Given the description of an element on the screen output the (x, y) to click on. 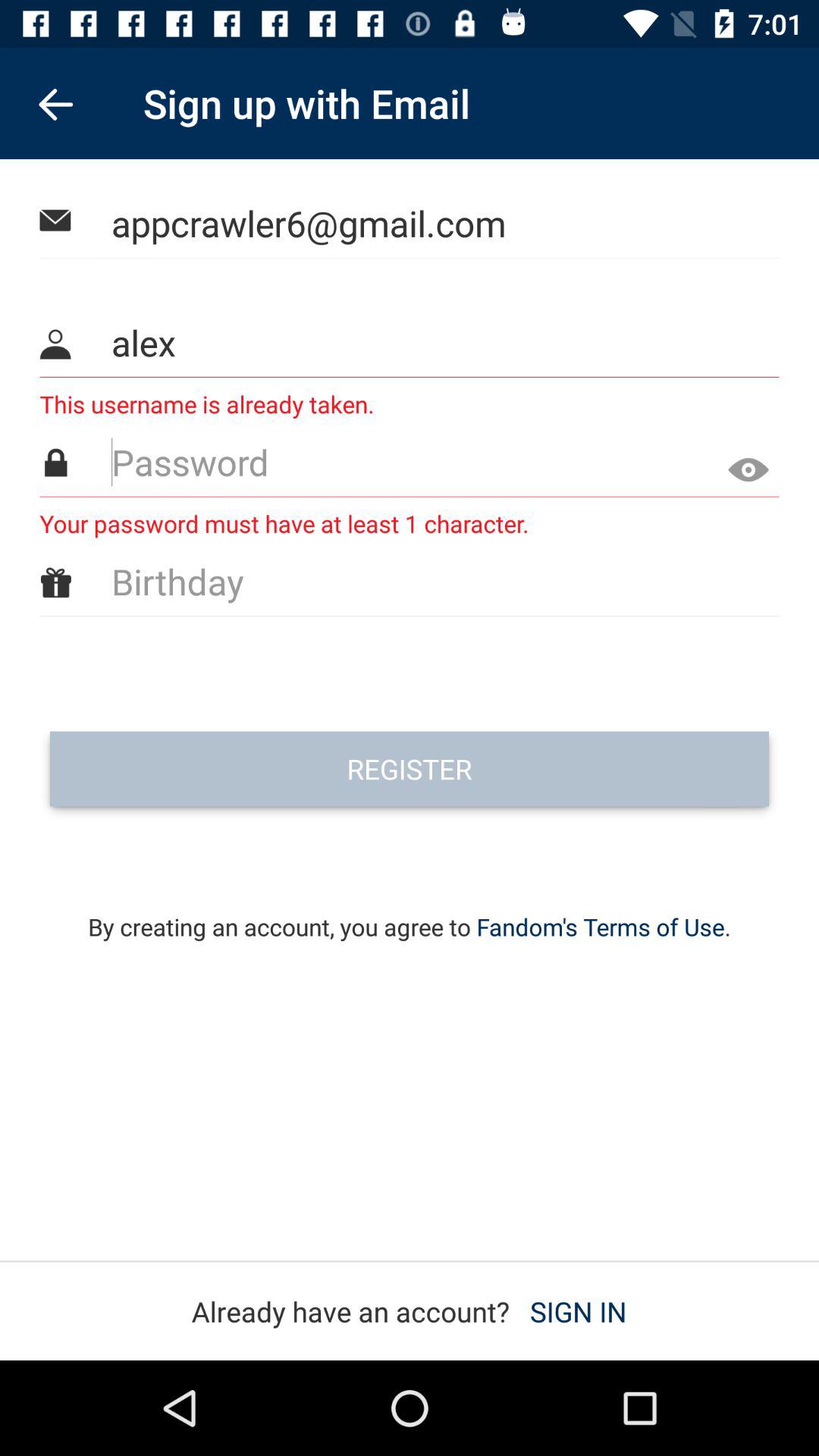
jump to the alex (410, 342)
